Given the description of an element on the screen output the (x, y) to click on. 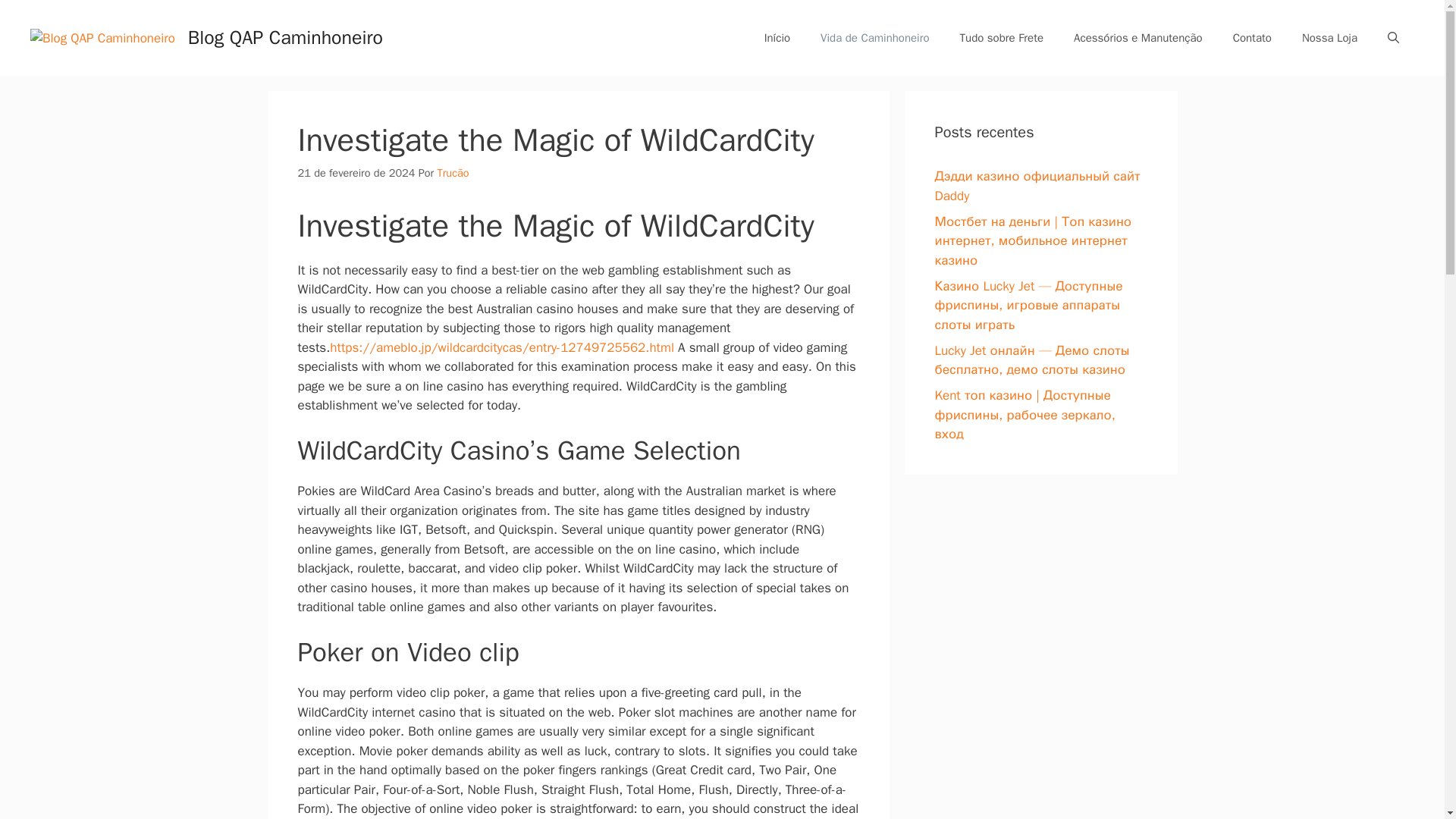
Nossa Loja (1330, 37)
Tudo sobre Frete (1001, 37)
Contato (1252, 37)
Blog QAP Caminhoneiro (102, 38)
Blog QAP Caminhoneiro (102, 37)
Vida de Caminhoneiro (874, 37)
Blog QAP Caminhoneiro (284, 37)
